Given the description of an element on the screen output the (x, y) to click on. 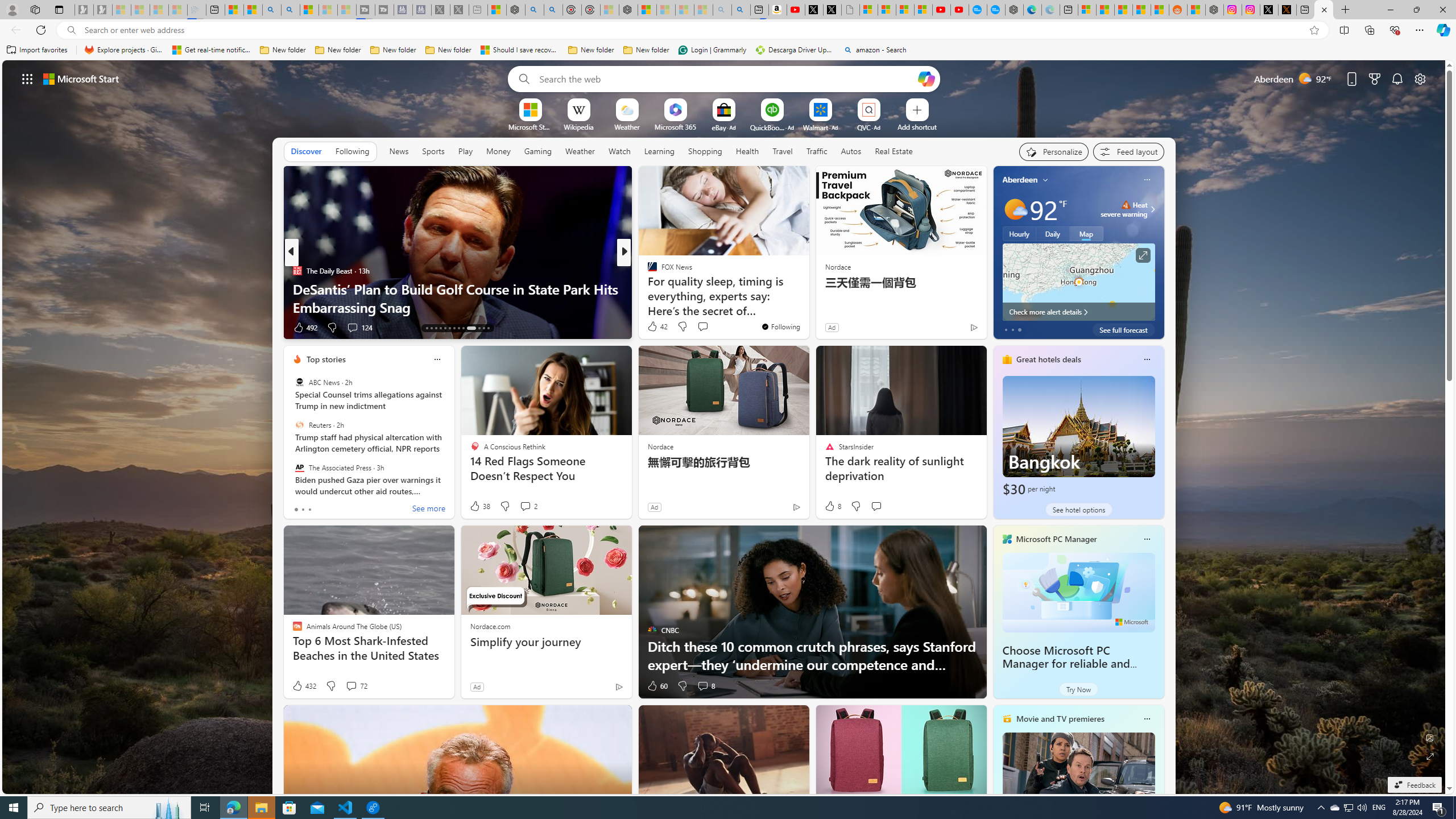
Shopping (705, 151)
Map (1085, 233)
Gloom - YouTube (941, 9)
Simplify your journey (546, 641)
Heat - Severe (1126, 204)
poe - Search (533, 9)
Health (746, 151)
View comments 72 Comment (350, 685)
Learning (658, 151)
Hourly (1018, 233)
See full forecast (1123, 329)
Daily (1052, 233)
